Given the description of an element on the screen output the (x, y) to click on. 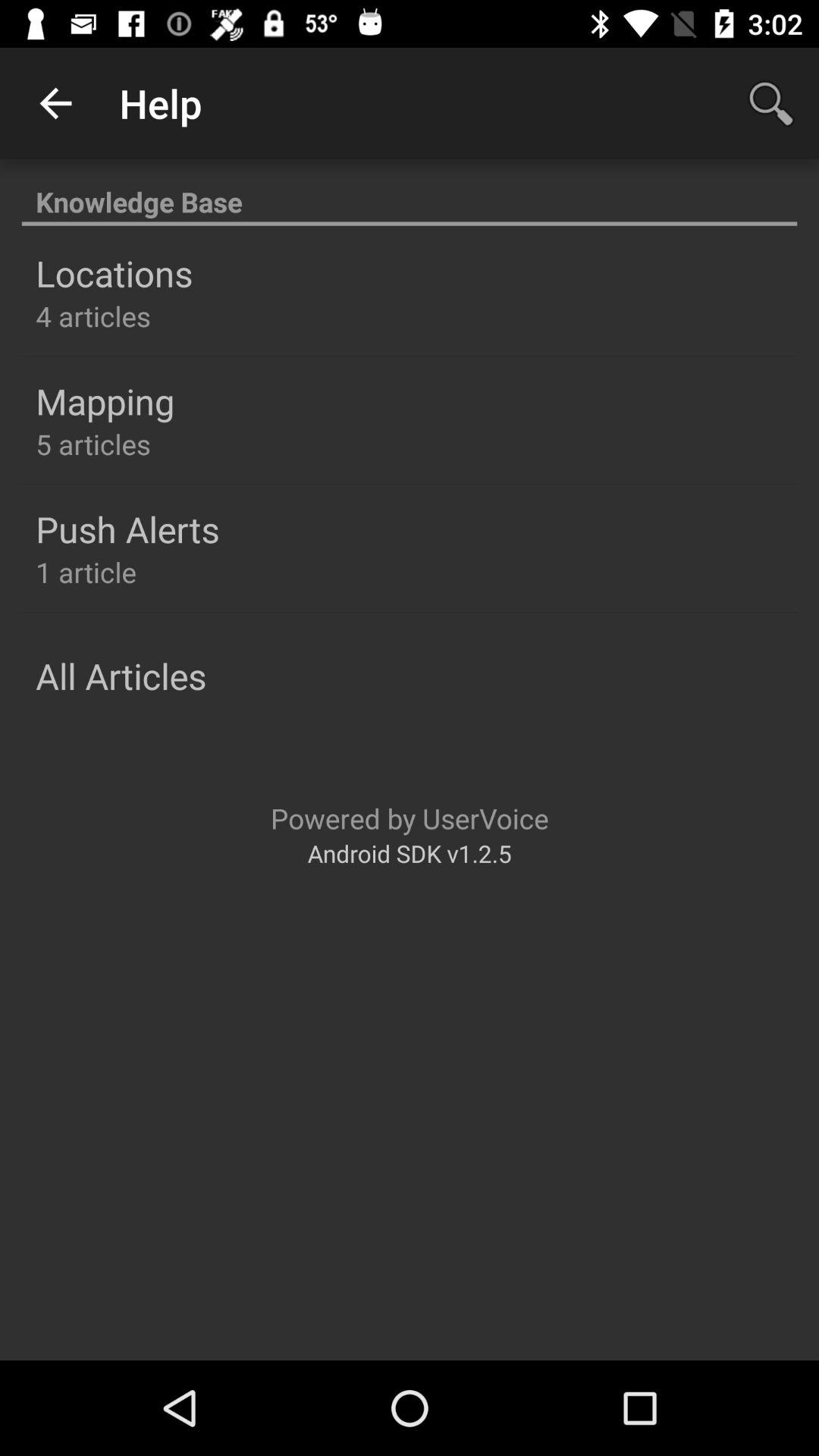
turn off 5 articles item (92, 443)
